Given the description of an element on the screen output the (x, y) to click on. 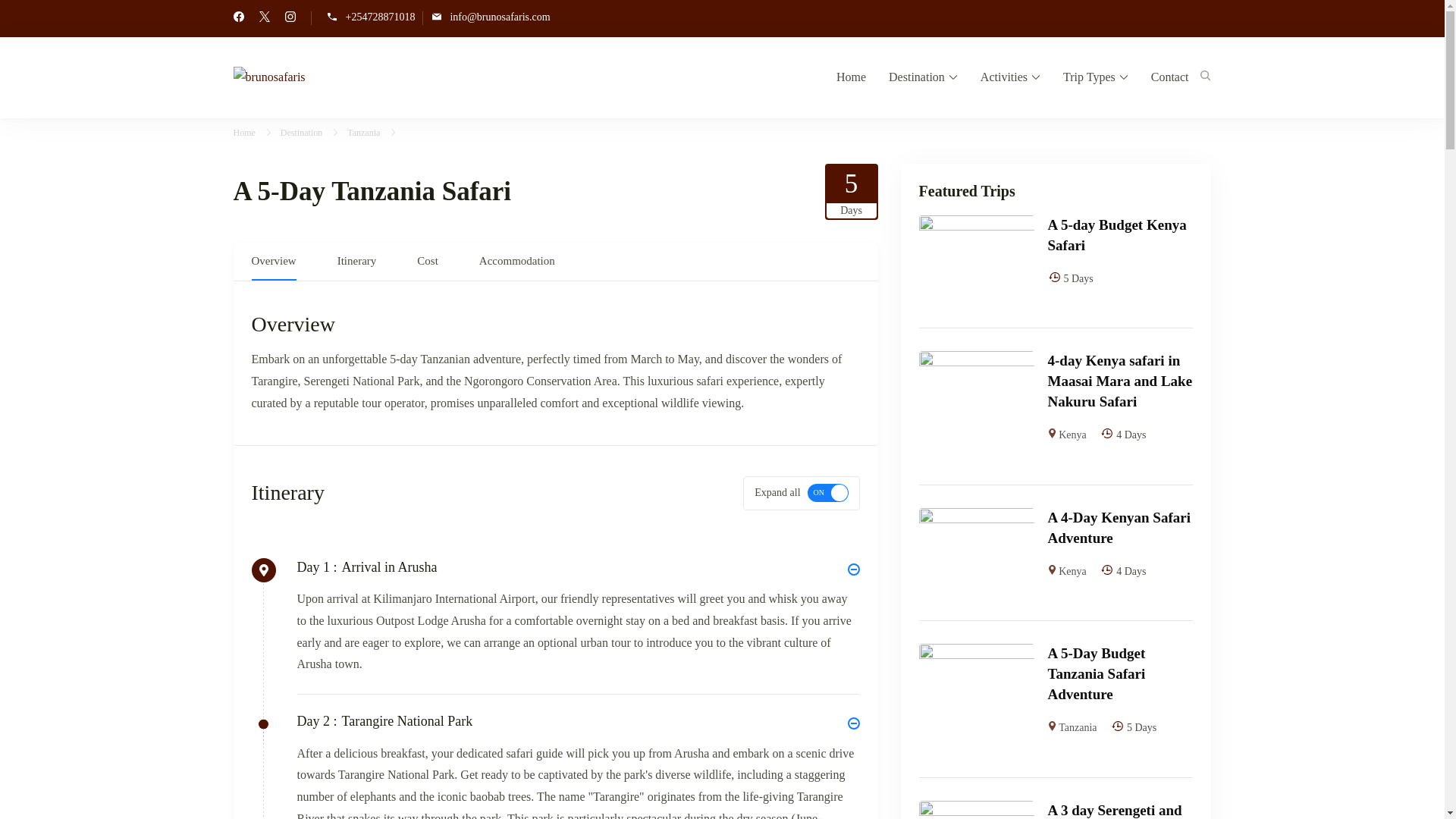
Destination (923, 77)
Activities (1010, 77)
brunosafaris (350, 87)
on (828, 493)
Trip Types (1095, 77)
